Given the description of an element on the screen output the (x, y) to click on. 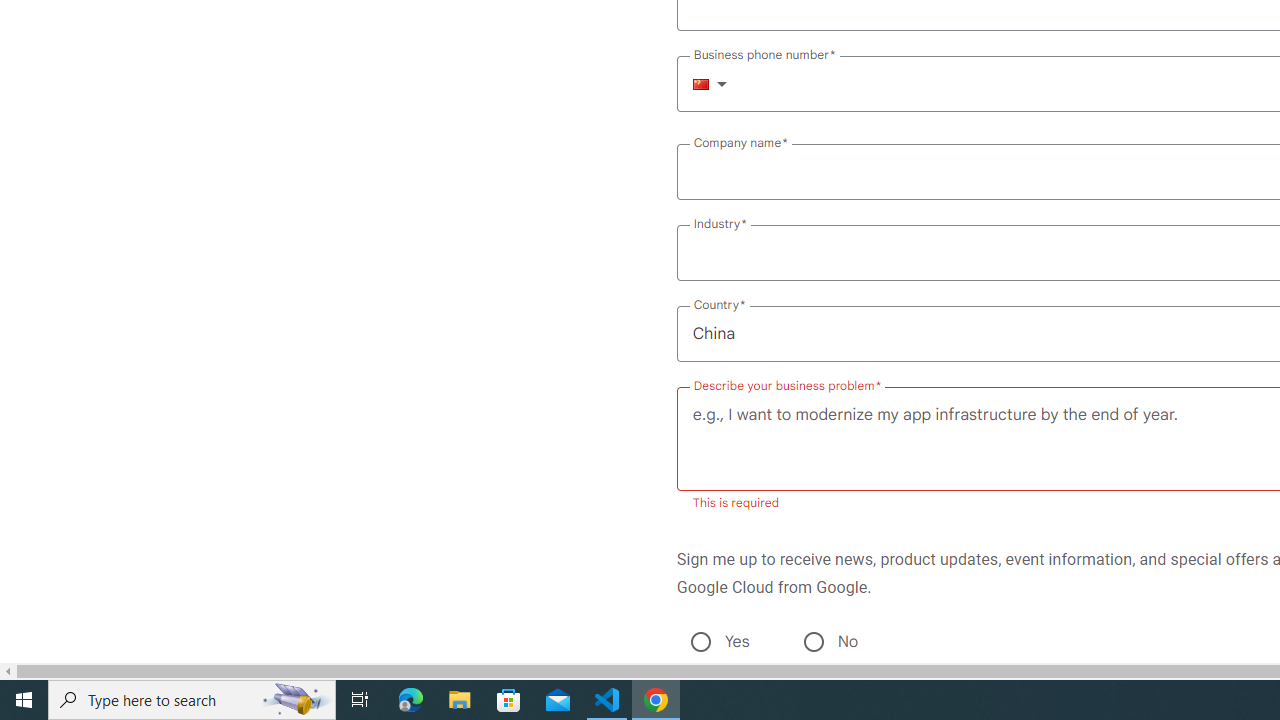
Yes (699, 641)
No (813, 641)
